Given the description of an element on the screen output the (x, y) to click on. 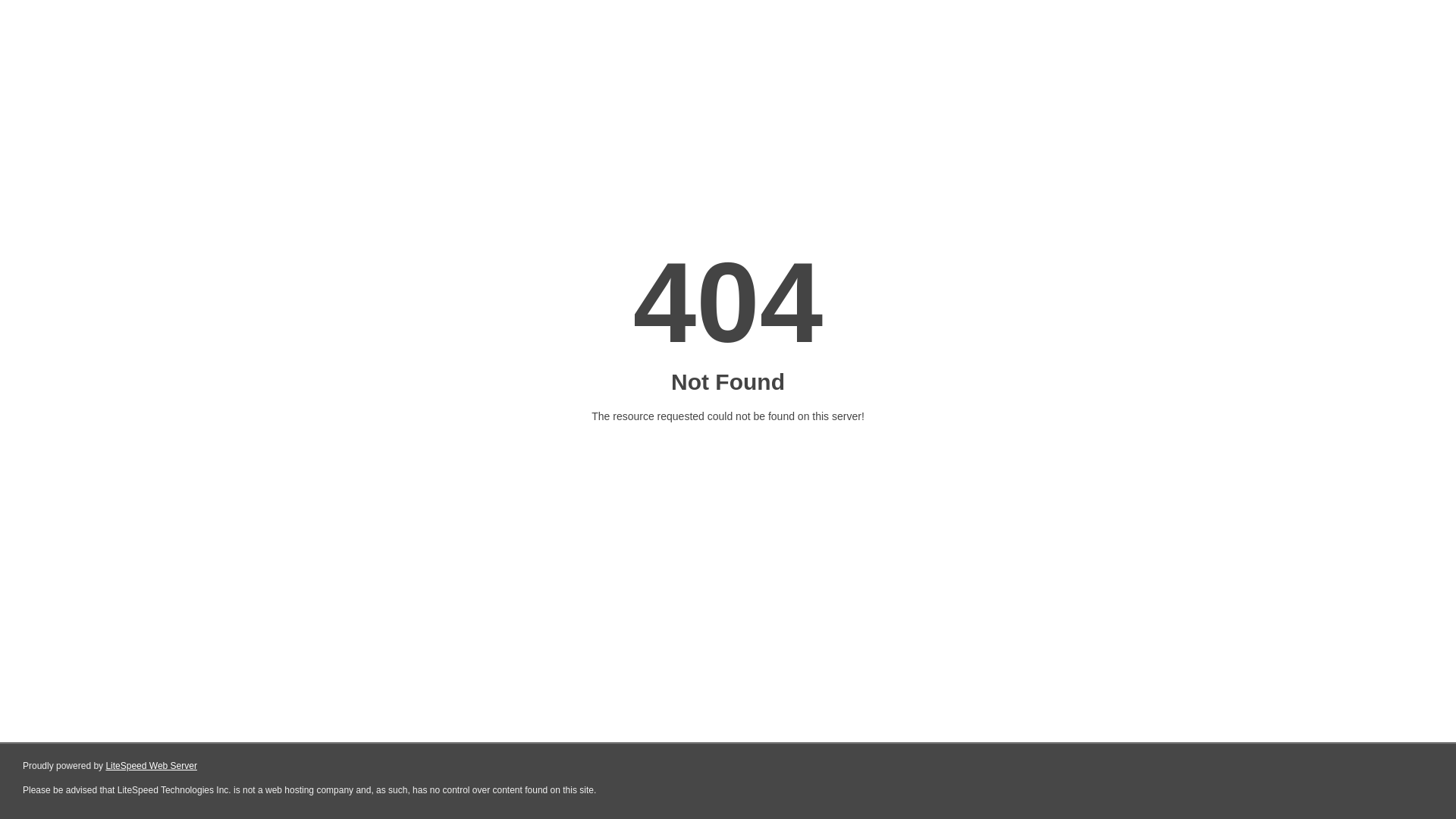
LiteSpeed Web Server Element type: text (151, 765)
